Given the description of an element on the screen output the (x, y) to click on. 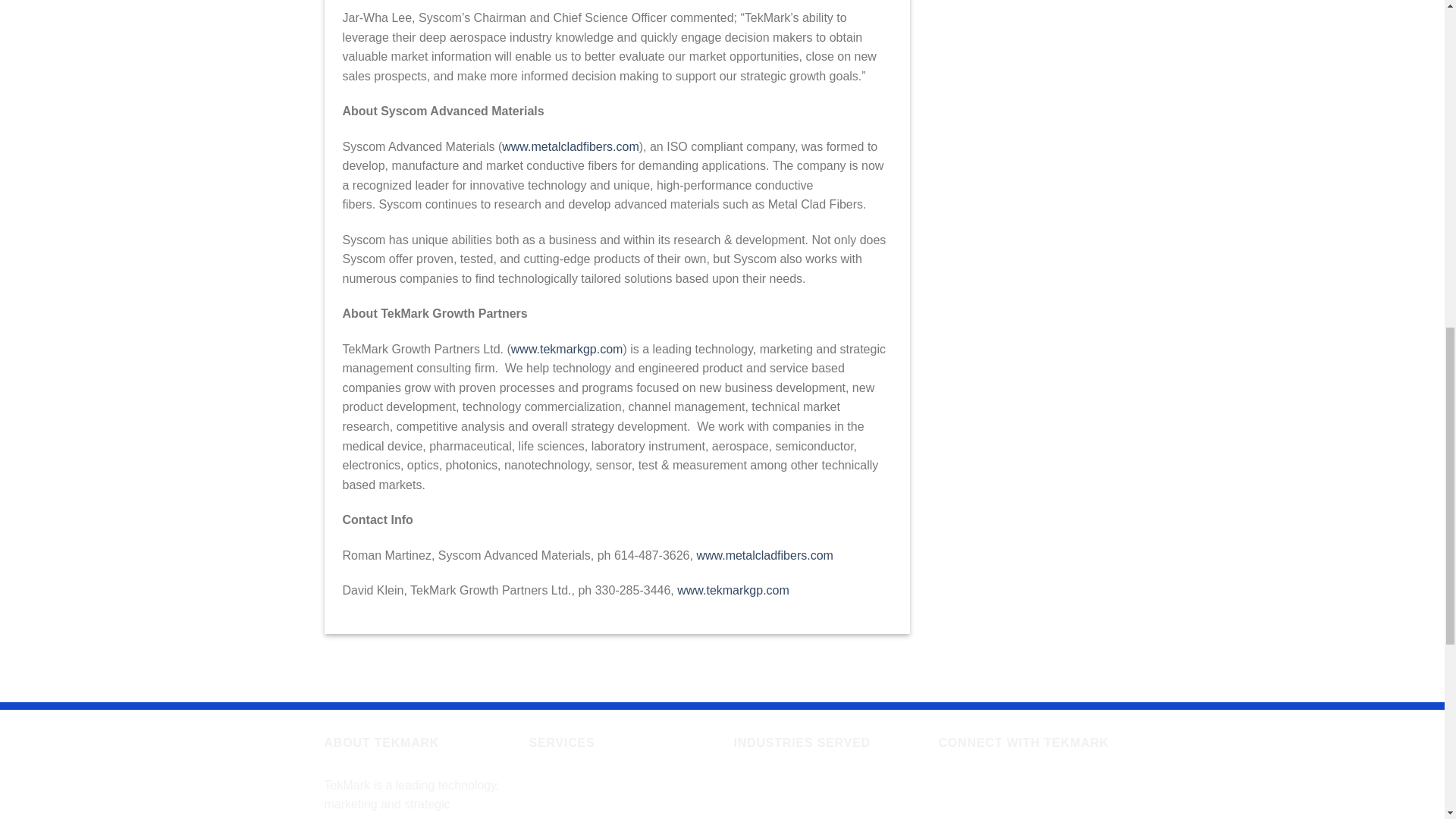
www.tekmarkgp.com (733, 590)
www.metalcladfibers.com (763, 554)
www.metalcladfibers.com (570, 146)
www.tekmarkgp.com (567, 349)
